Given the description of an element on the screen output the (x, y) to click on. 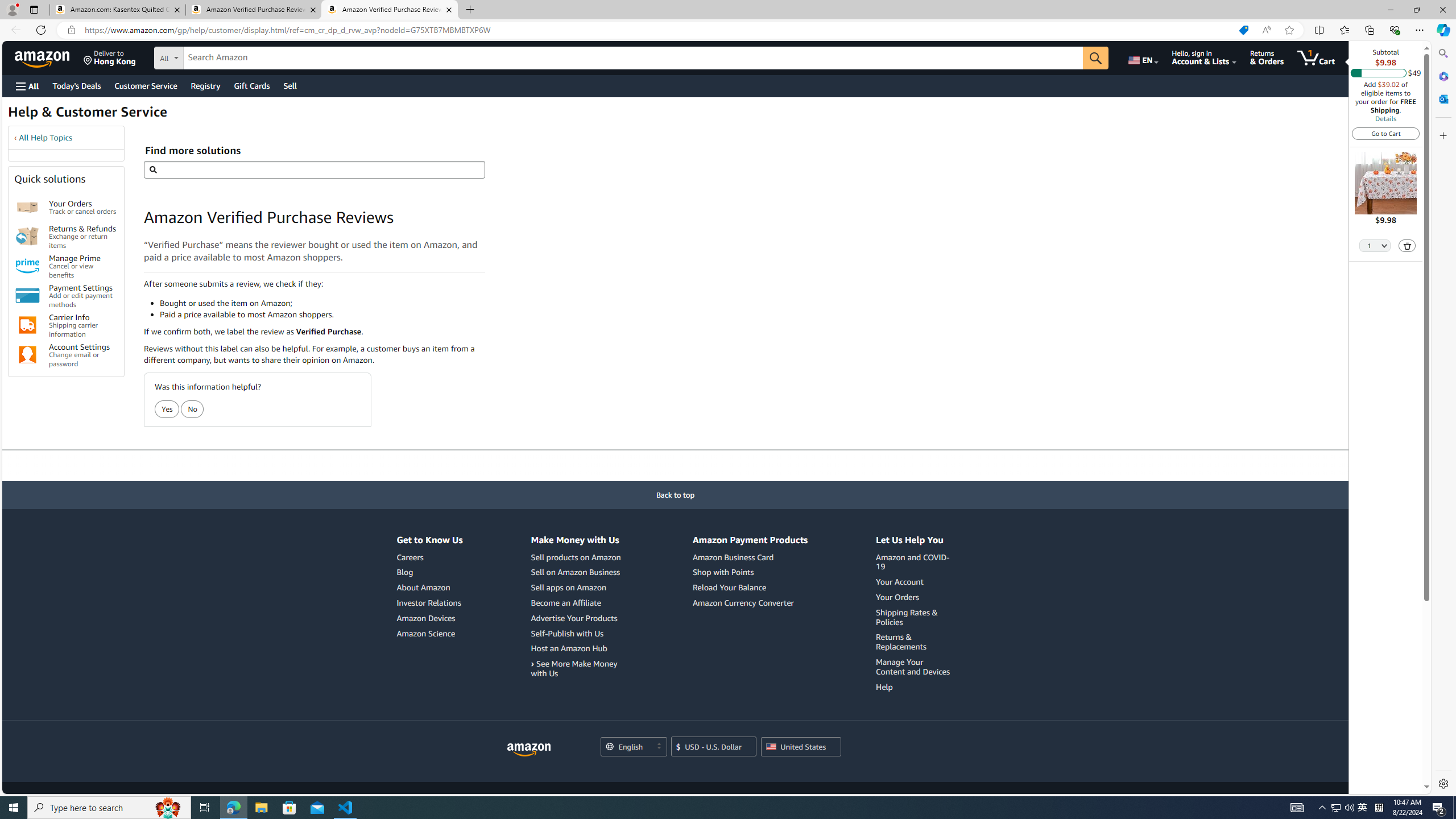
Advertise Your Products (573, 617)
Tab actions menu (33, 9)
Choose a language for shopping. (632, 746)
Returns & Replacements (914, 641)
Search Amazon (633, 57)
Gift Cards (251, 85)
Sell on Amazon Business (576, 572)
See More Make Money with Us (576, 668)
Help & Customer Service (87, 114)
Minimize (1390, 9)
No (192, 408)
